Given the description of an element on the screen output the (x, y) to click on. 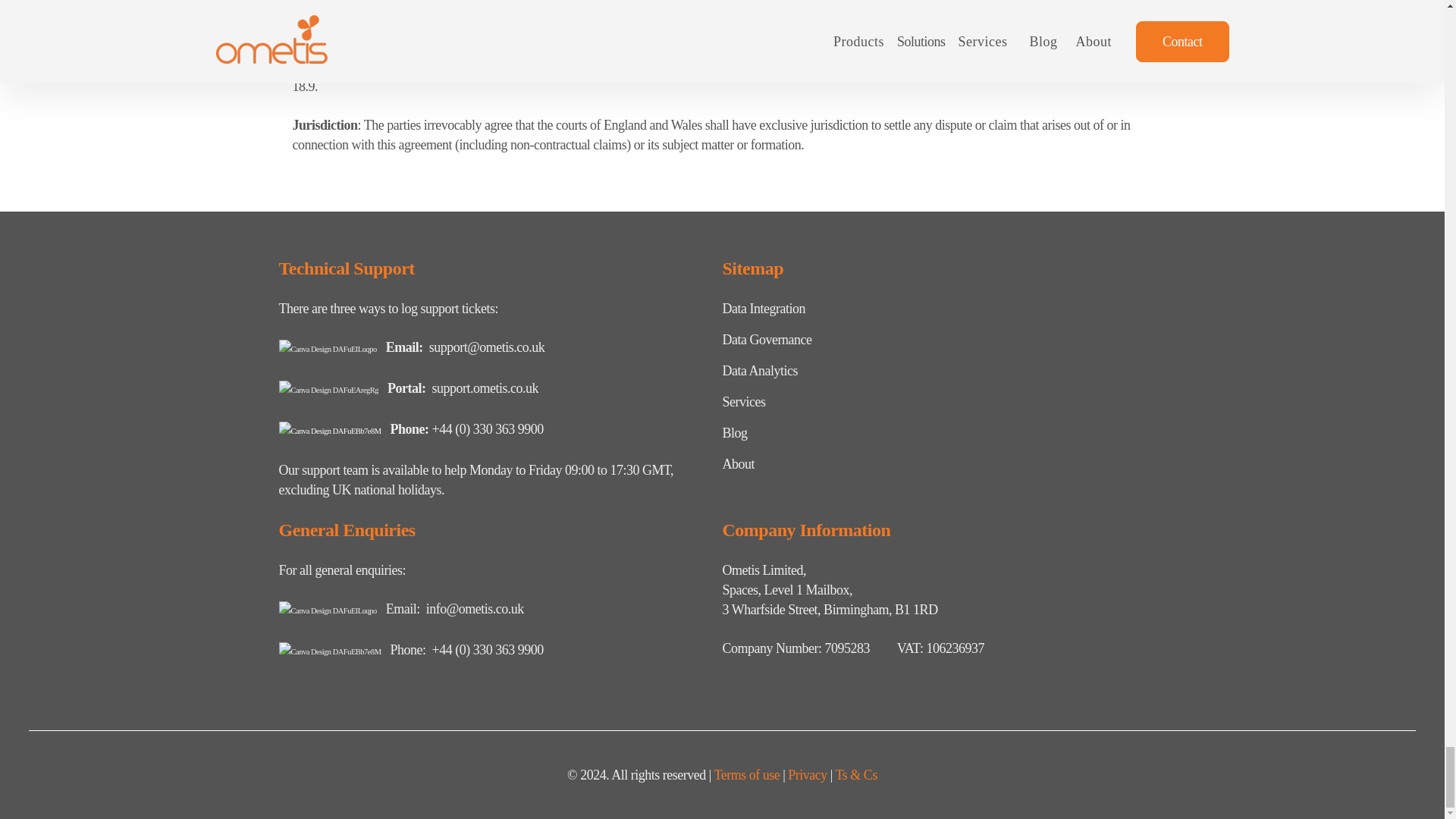
Data Governance (766, 339)
Data Analytics (759, 370)
support.ometis.co.uk (485, 387)
Data Integration (763, 308)
